Given the description of an element on the screen output the (x, y) to click on. 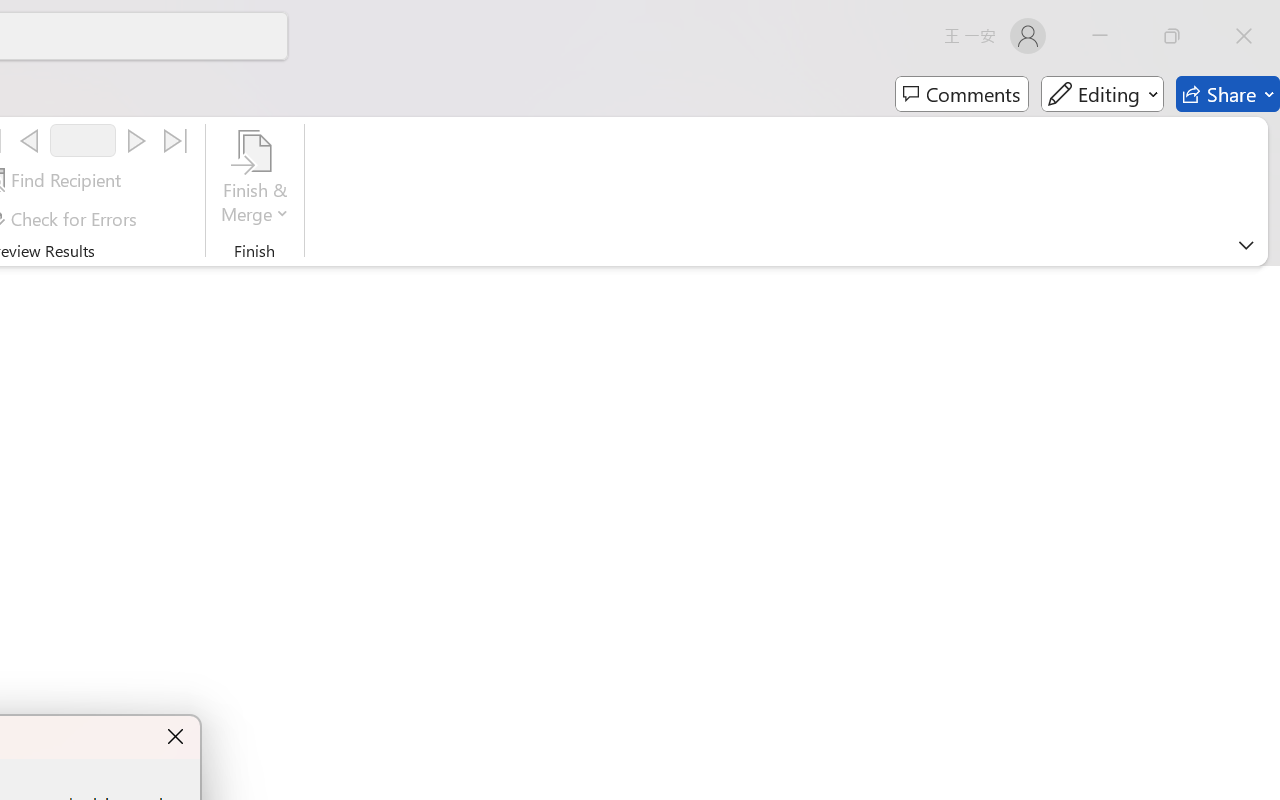
Comments (961, 94)
Close (1244, 36)
Record (83, 140)
Finish & Merge (255, 179)
Next (136, 141)
Restore Down (1172, 36)
Previous (29, 141)
Editing (1101, 94)
Last (175, 141)
Ribbon Display Options (1246, 245)
Share (1228, 94)
Minimize (1099, 36)
